Given the description of an element on the screen output the (x, y) to click on. 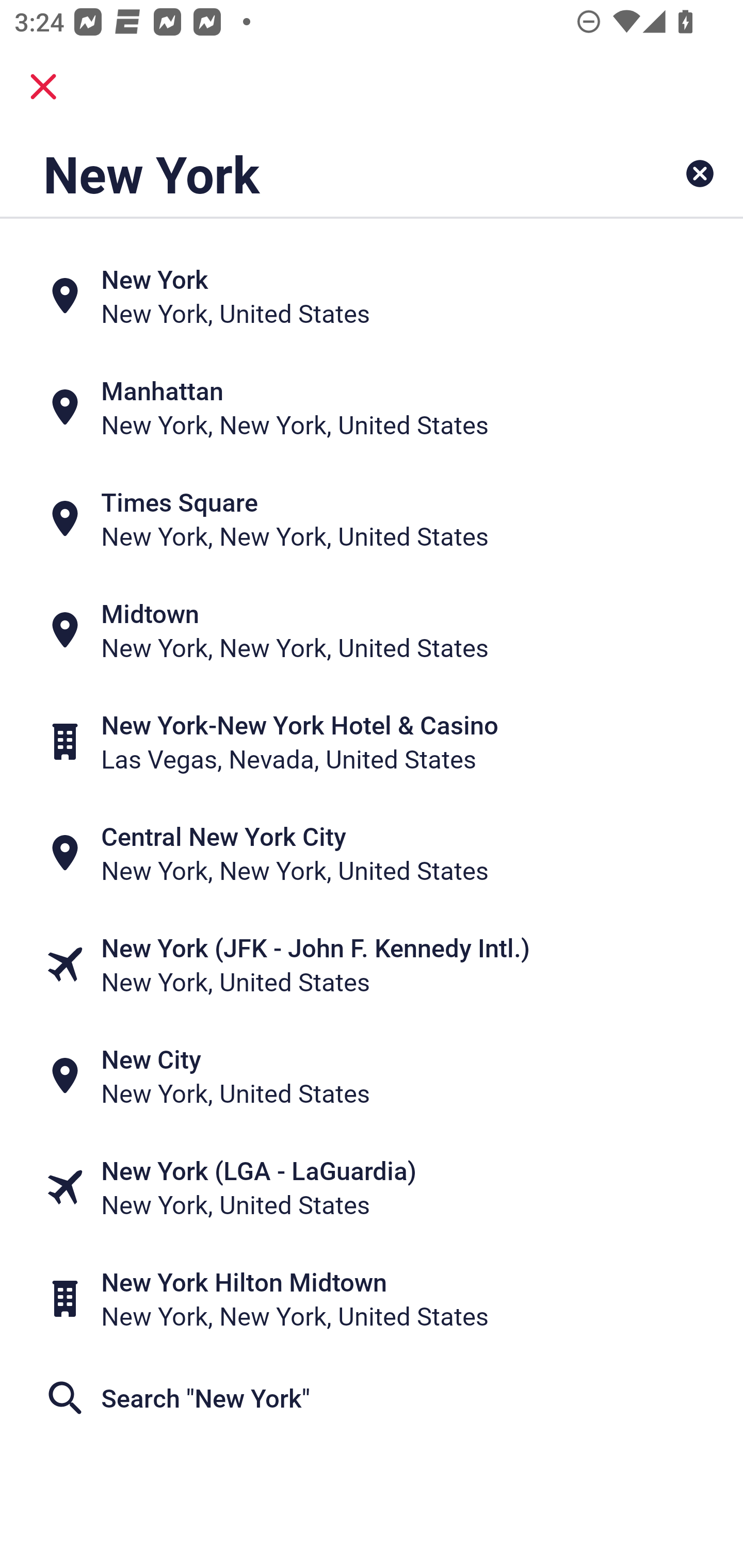
close. (43, 86)
Clear (699, 173)
New York (306, 173)
New York New York, United States (371, 295)
Manhattan New York, New York, United States (371, 406)
Times Square New York, New York, United States (371, 517)
Midtown New York, New York, United States (371, 629)
New City New York, United States (371, 1076)
New York (LGA - LaGuardia) New York, United States (371, 1187)
Search "New York" (371, 1397)
